Given the description of an element on the screen output the (x, y) to click on. 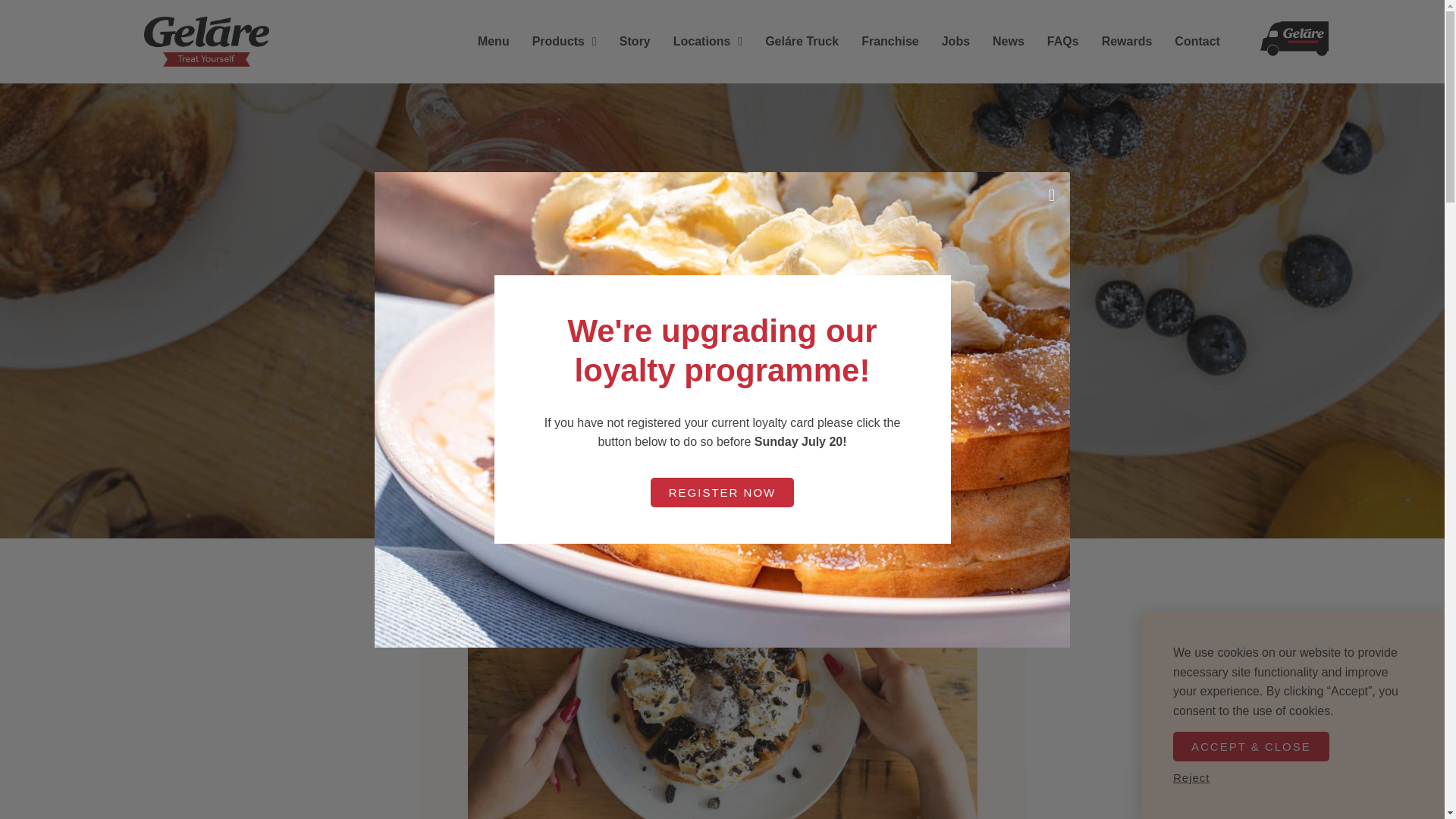
Rewards (1126, 41)
Locations (708, 41)
Jobs (955, 41)
Products (564, 41)
Contact (1197, 41)
Story (635, 41)
Menu (493, 41)
News (1008, 41)
Franchise (890, 41)
FAQs (1062, 41)
